Given the description of an element on the screen output the (x, y) to click on. 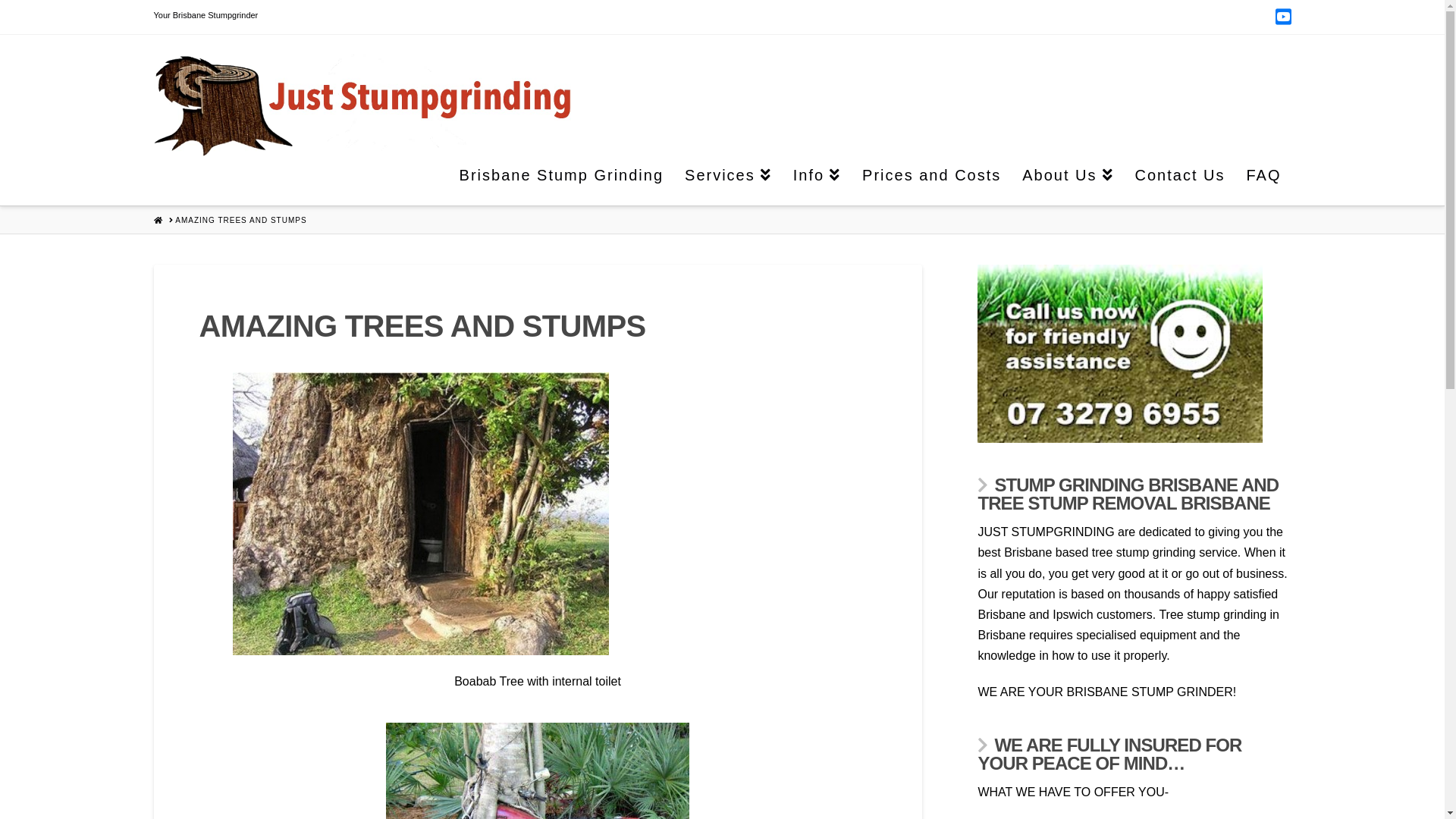
HOME Element type: text (157, 219)
AMAZING TREES AND STUMPS Element type: text (240, 220)
FAQ Element type: text (1262, 180)
Contact Us Element type: text (1179, 180)
Brisbane Stump Grinding Element type: text (560, 180)
Services Element type: text (727, 180)
YouTube Element type: hover (1283, 16)
About Us Element type: text (1066, 180)
Prices and Costs Element type: text (930, 180)
Info Element type: text (815, 180)
